Given the description of an element on the screen output the (x, y) to click on. 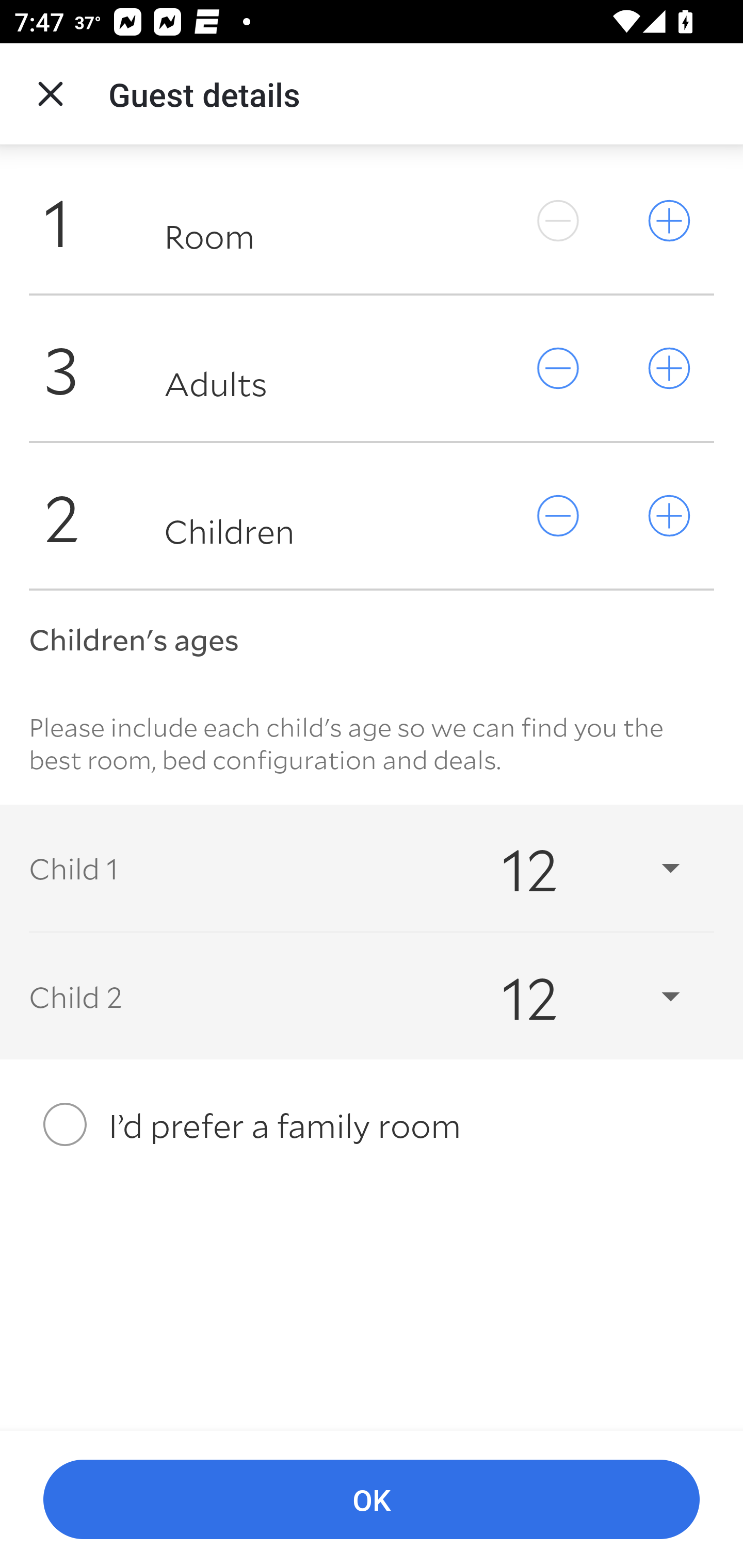
12 (573, 867)
12 (573, 996)
I’d prefer a family room (371, 1124)
OK (371, 1499)
